Given the description of an element on the screen output the (x, y) to click on. 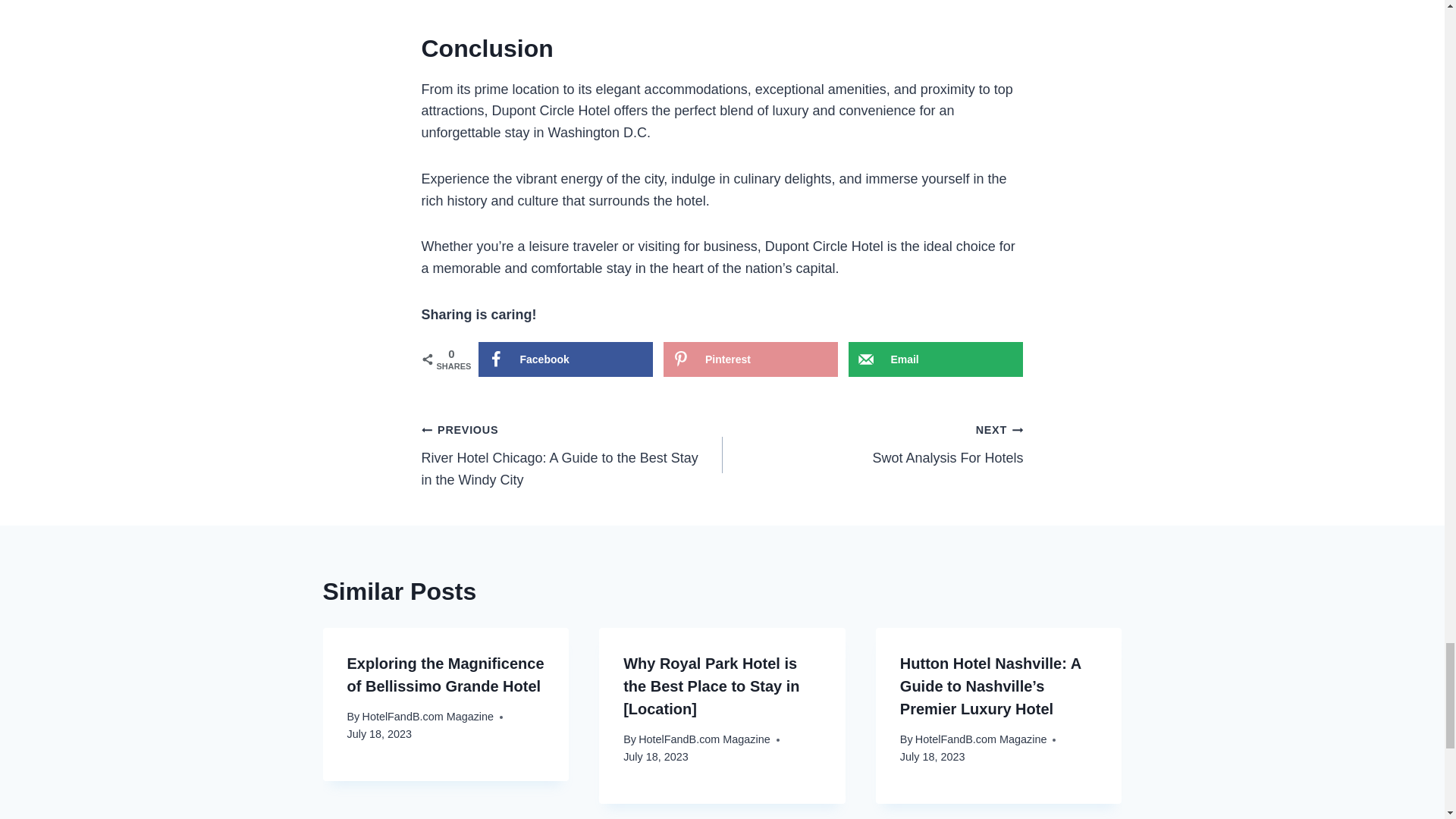
Send over email (935, 359)
Save to Pinterest (750, 359)
Exploring the Magnificence of Bellissimo Grande Hotel (445, 674)
Email (872, 443)
HotelFandB.com Magazine (935, 359)
Share on Facebook (980, 739)
HotelFandB.com Magazine (564, 359)
Pinterest (704, 739)
